Given the description of an element on the screen output the (x, y) to click on. 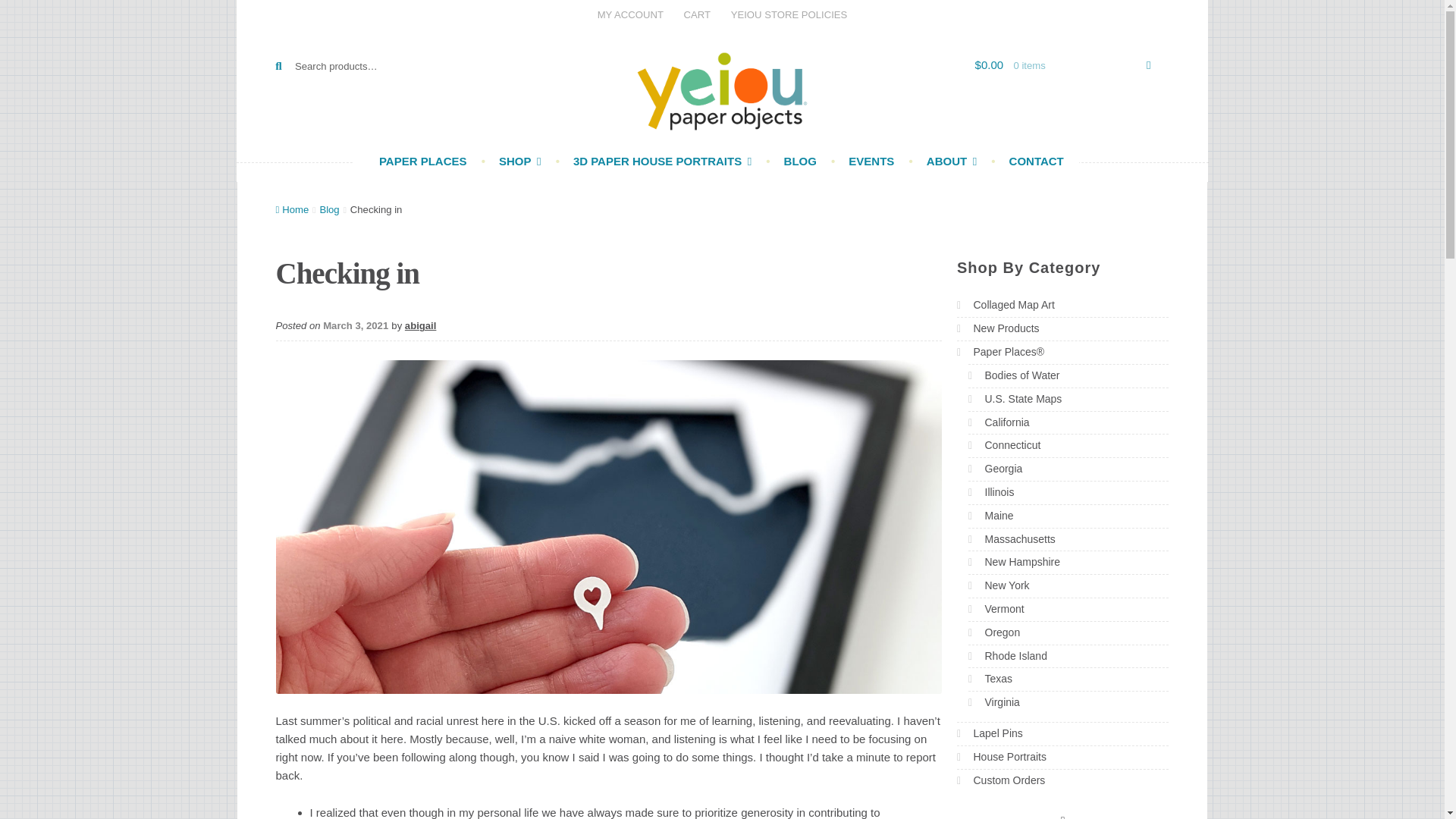
View your shopping cart (1072, 65)
PAPER PLACES (421, 166)
YEIOU STORE POLICIES (789, 14)
CART (697, 14)
3D PAPER HOUSE PORTRAITS (653, 166)
SHOP (511, 166)
MY ACCOUNT (629, 14)
